Given the description of an element on the screen output the (x, y) to click on. 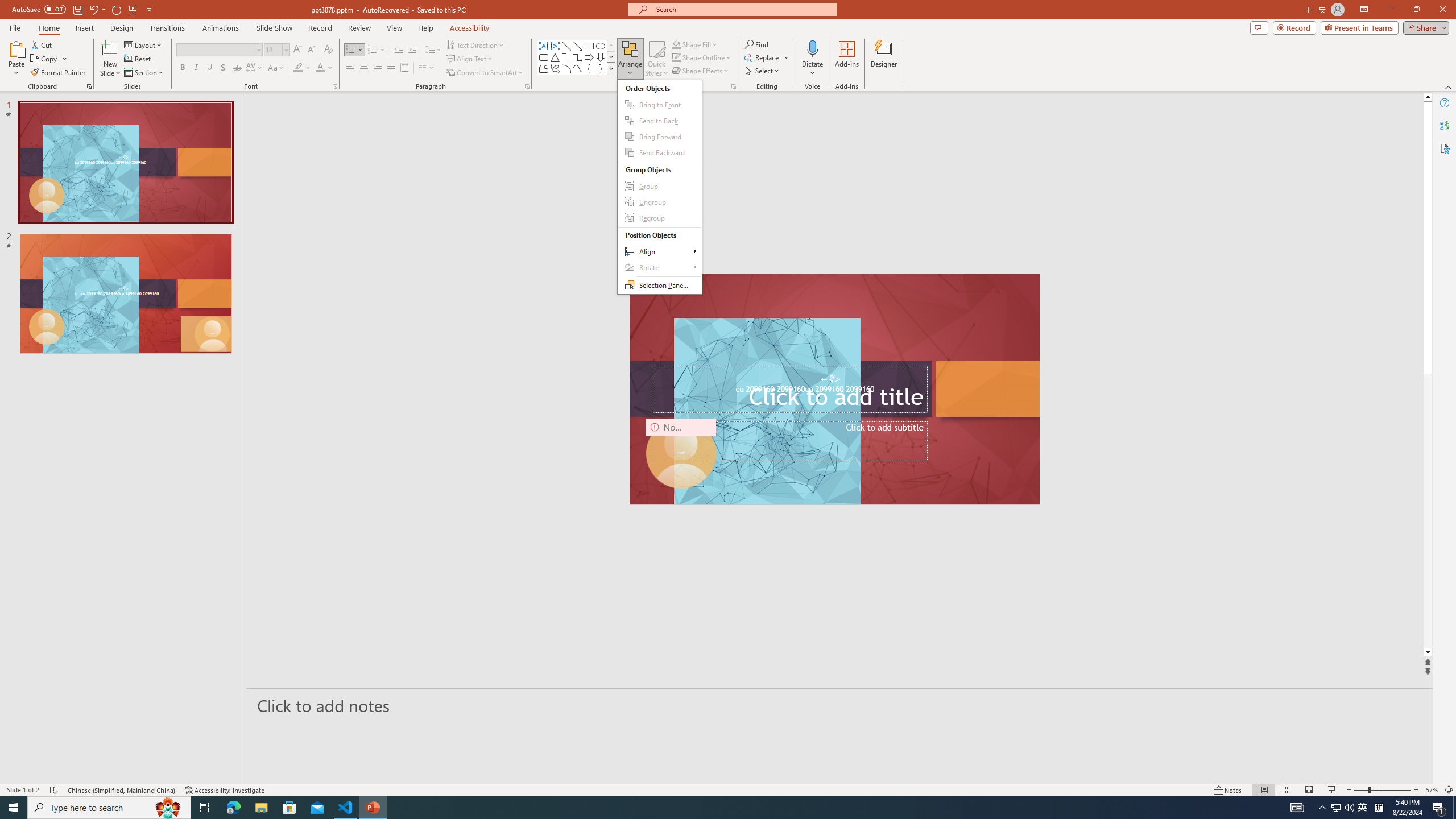
Curve (577, 68)
User Promoted Notification Area (1342, 807)
Action Center, 1 new notification (1439, 807)
Freeform: Shape (543, 68)
Section (144, 72)
AutomationID: ShapesInsertGallery (576, 57)
Decrease Font Size (310, 49)
Font Color Red (320, 67)
Strikethrough (237, 67)
Tray Input Indicator - Chinese (Simplified, China) (1378, 807)
